Given the description of an element on the screen output the (x, y) to click on. 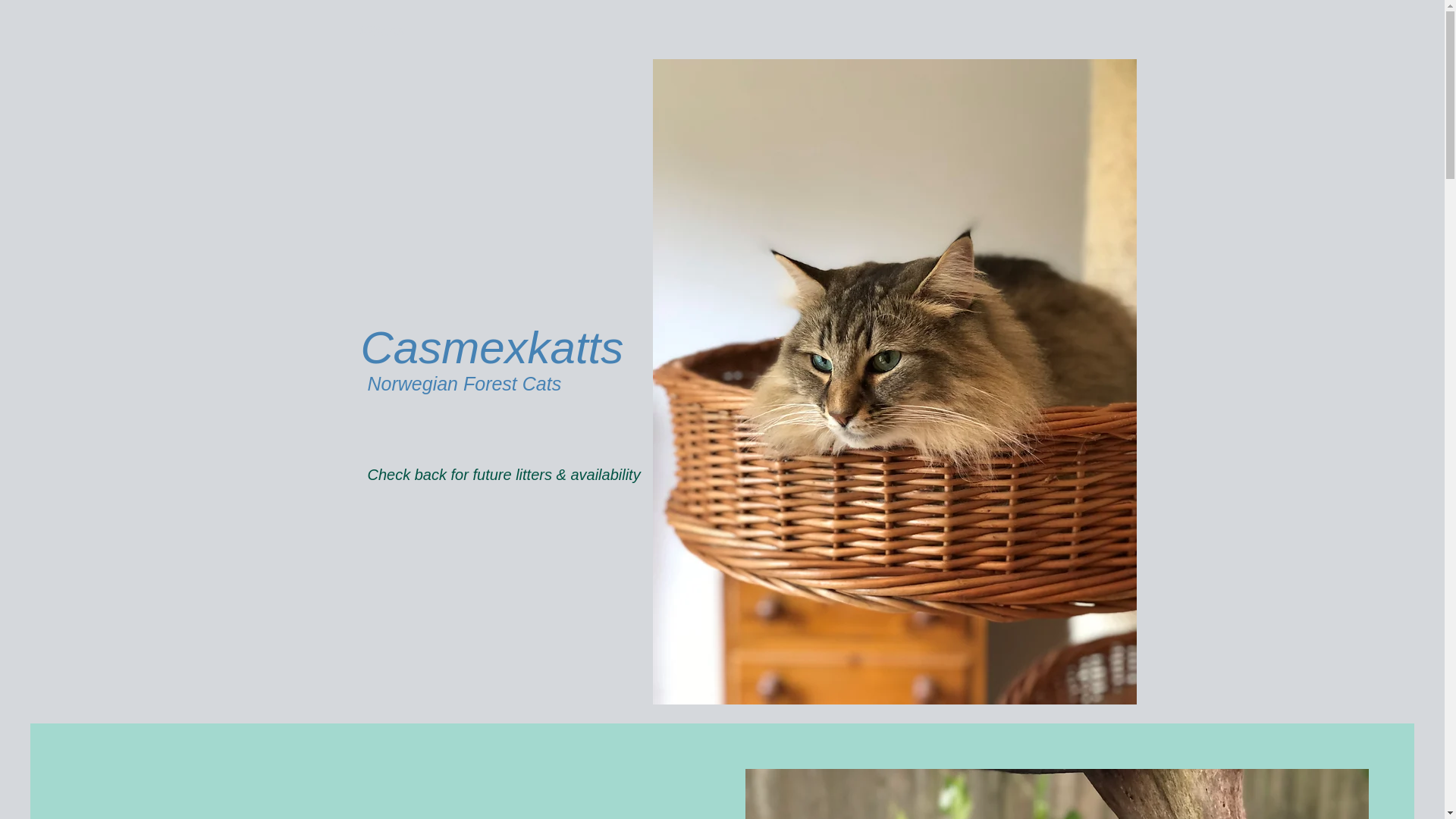
Kittens (381, 30)
